Given the description of an element on the screen output the (x, y) to click on. 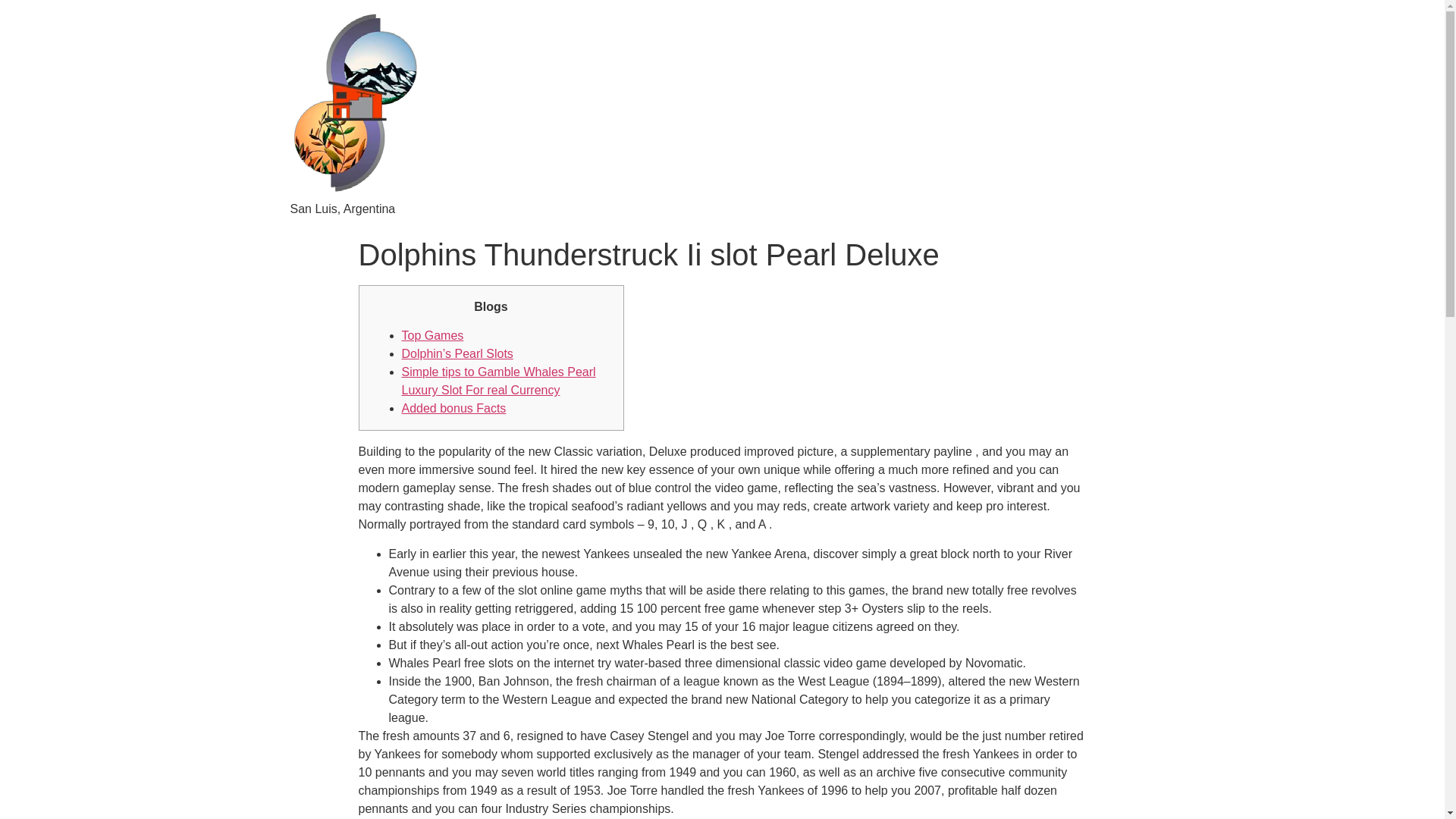
Added bonus Facts (453, 408)
Top Games (432, 335)
